Given the description of an element on the screen output the (x, y) to click on. 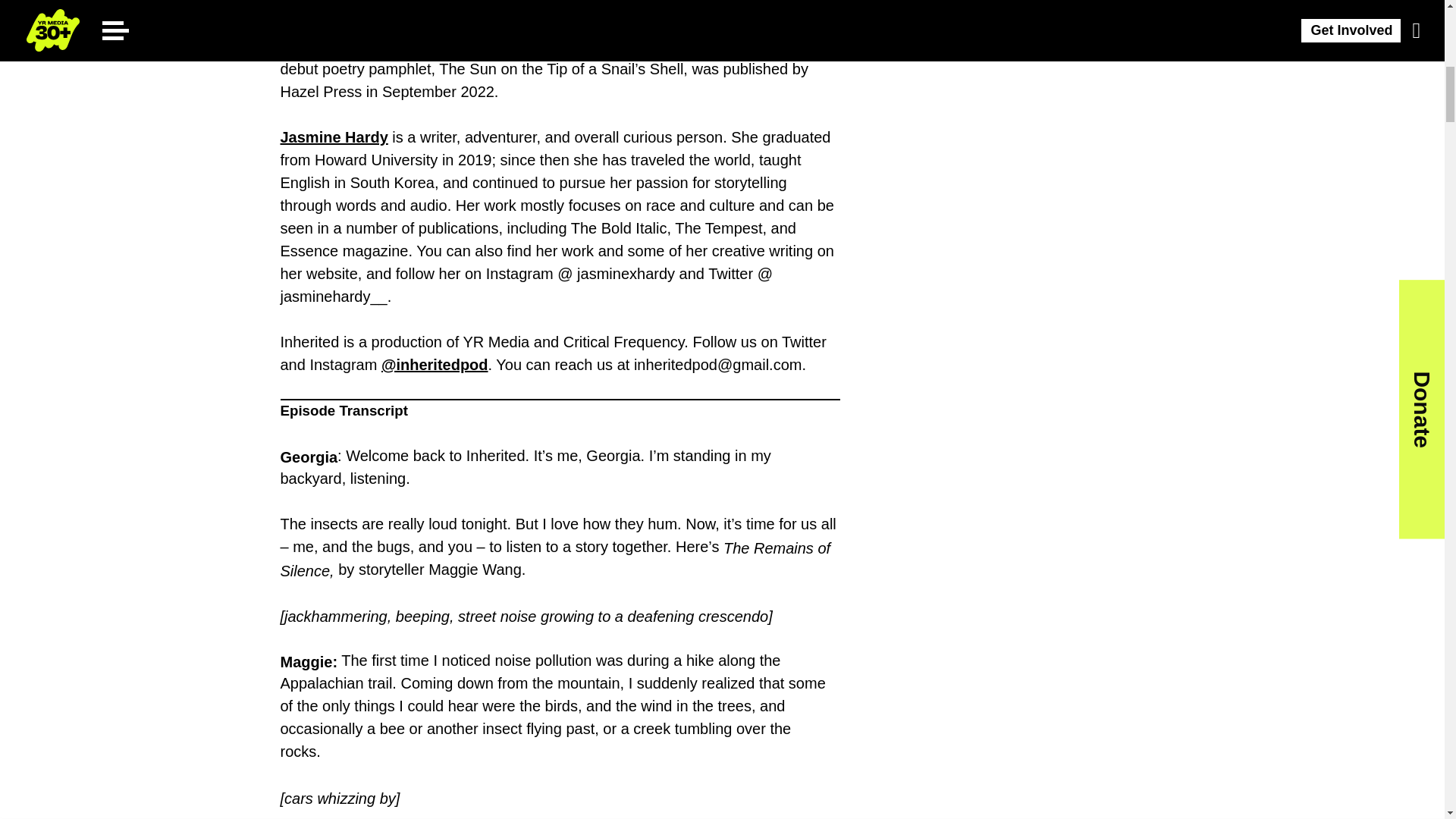
Jasmine Hardy (334, 136)
